Given the description of an element on the screen output the (x, y) to click on. 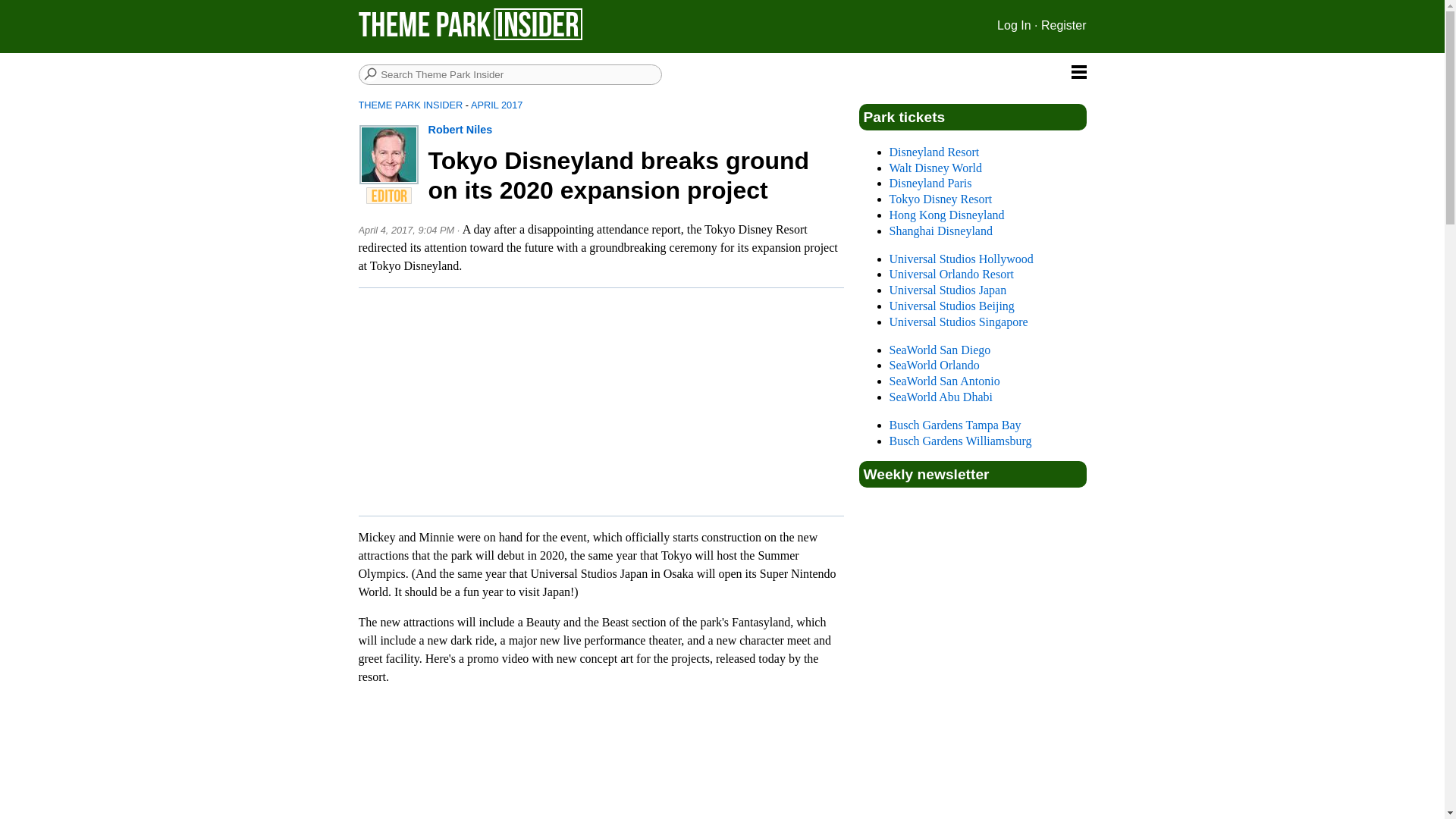
Disneyland Paris (929, 182)
Log In (1013, 24)
THEME PARK INSIDER (410, 104)
Theme Park Insider (470, 23)
Tokyo Disney Resort (939, 198)
Shanghai Disneyland (939, 230)
Universal Studios Japan (947, 289)
Park tickets (903, 116)
Hong Kong Disneyland (946, 214)
Advertisement (607, 401)
